Given the description of an element on the screen output the (x, y) to click on. 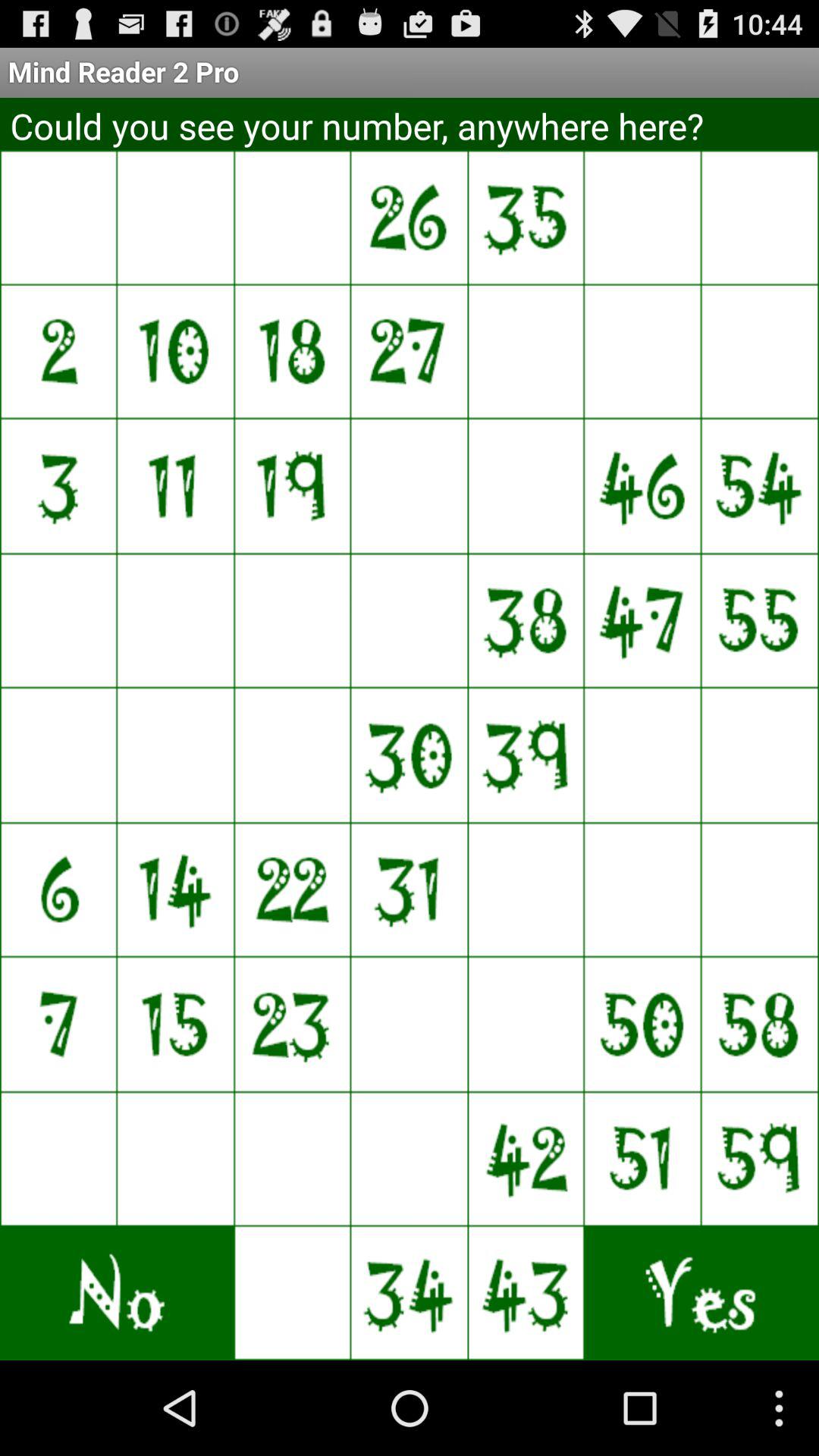
number (643, 755)
